Given the description of an element on the screen output the (x, y) to click on. 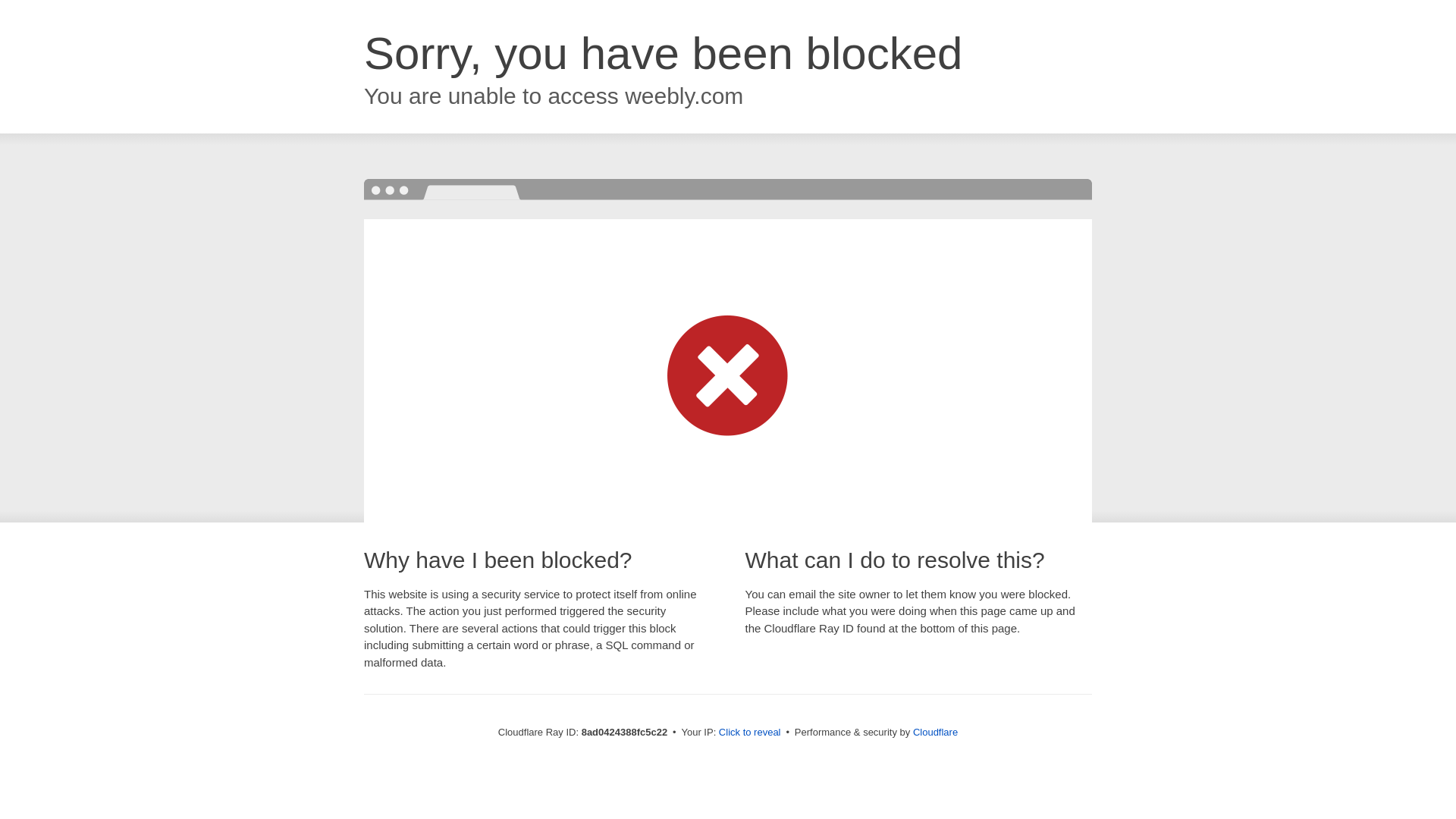
Click to reveal (749, 732)
Cloudflare (935, 731)
